Given the description of an element on the screen output the (x, y) to click on. 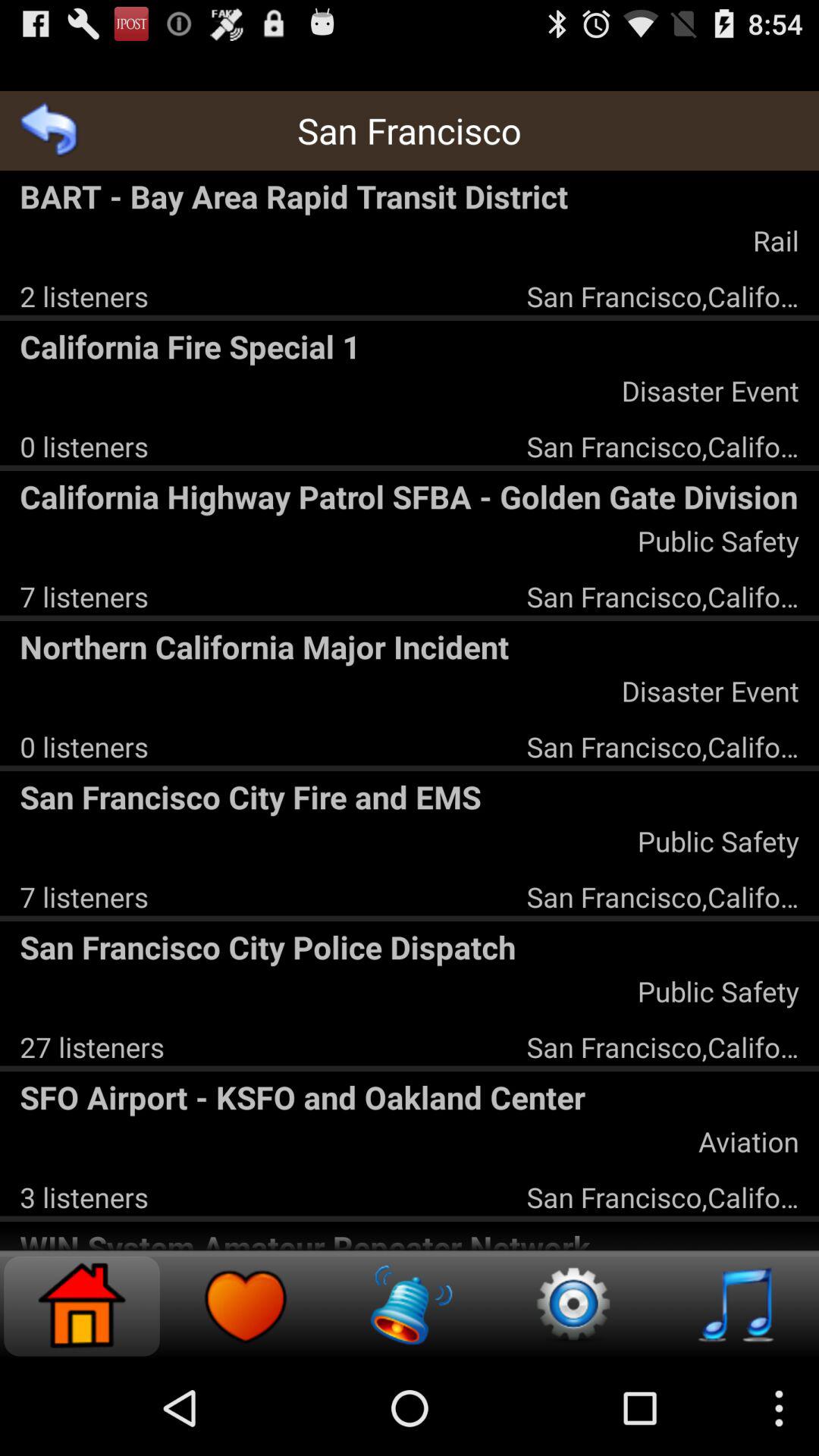
press california fire special app (409, 345)
